Given the description of an element on the screen output the (x, y) to click on. 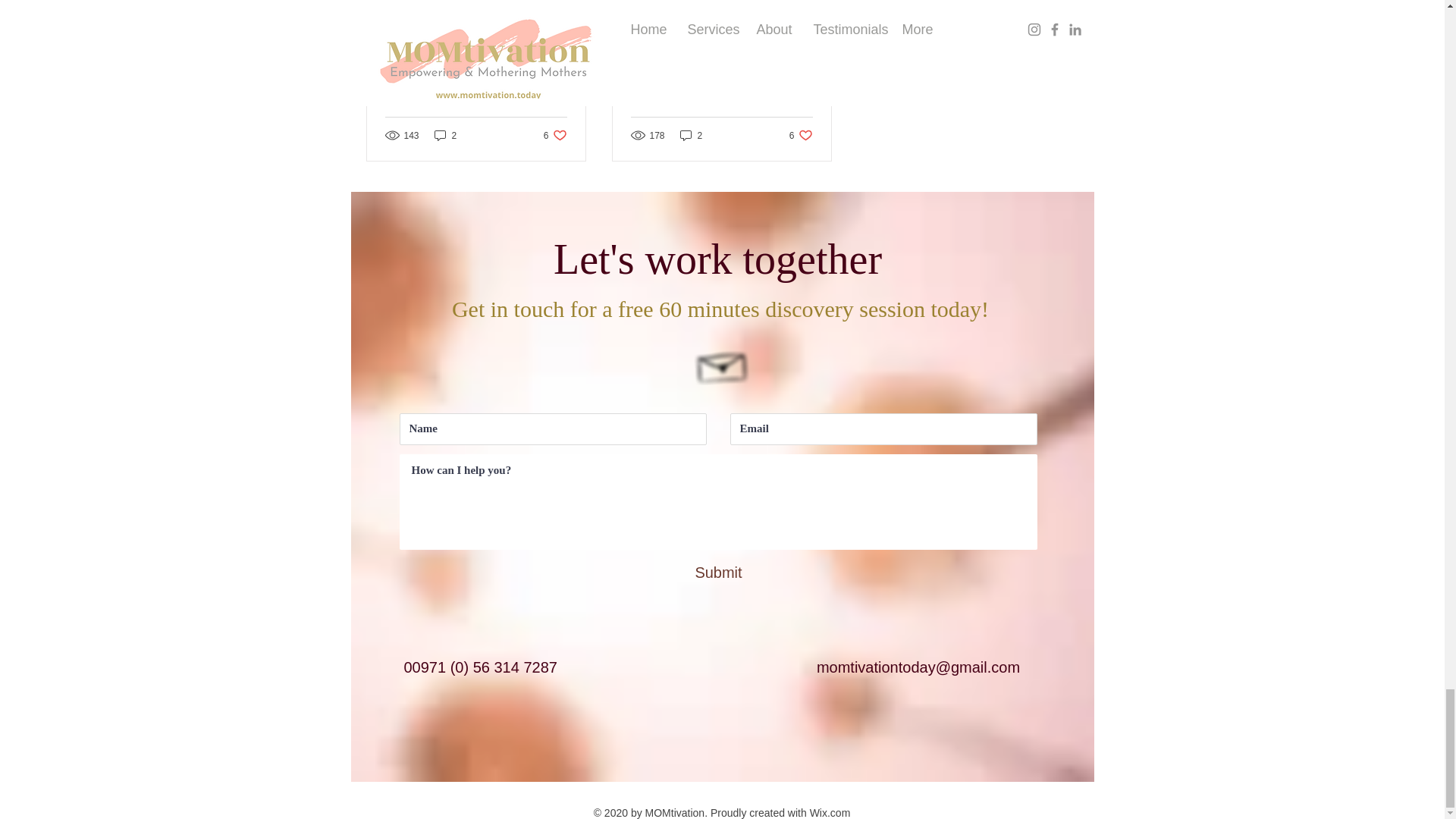
2 (555, 134)
What is a Doula and How Can a Doula Help You? (445, 134)
When mama turns her breakdowns into breakthroughs (476, 82)
Hand drawn envelope (721, 82)
